Given the description of an element on the screen output the (x, y) to click on. 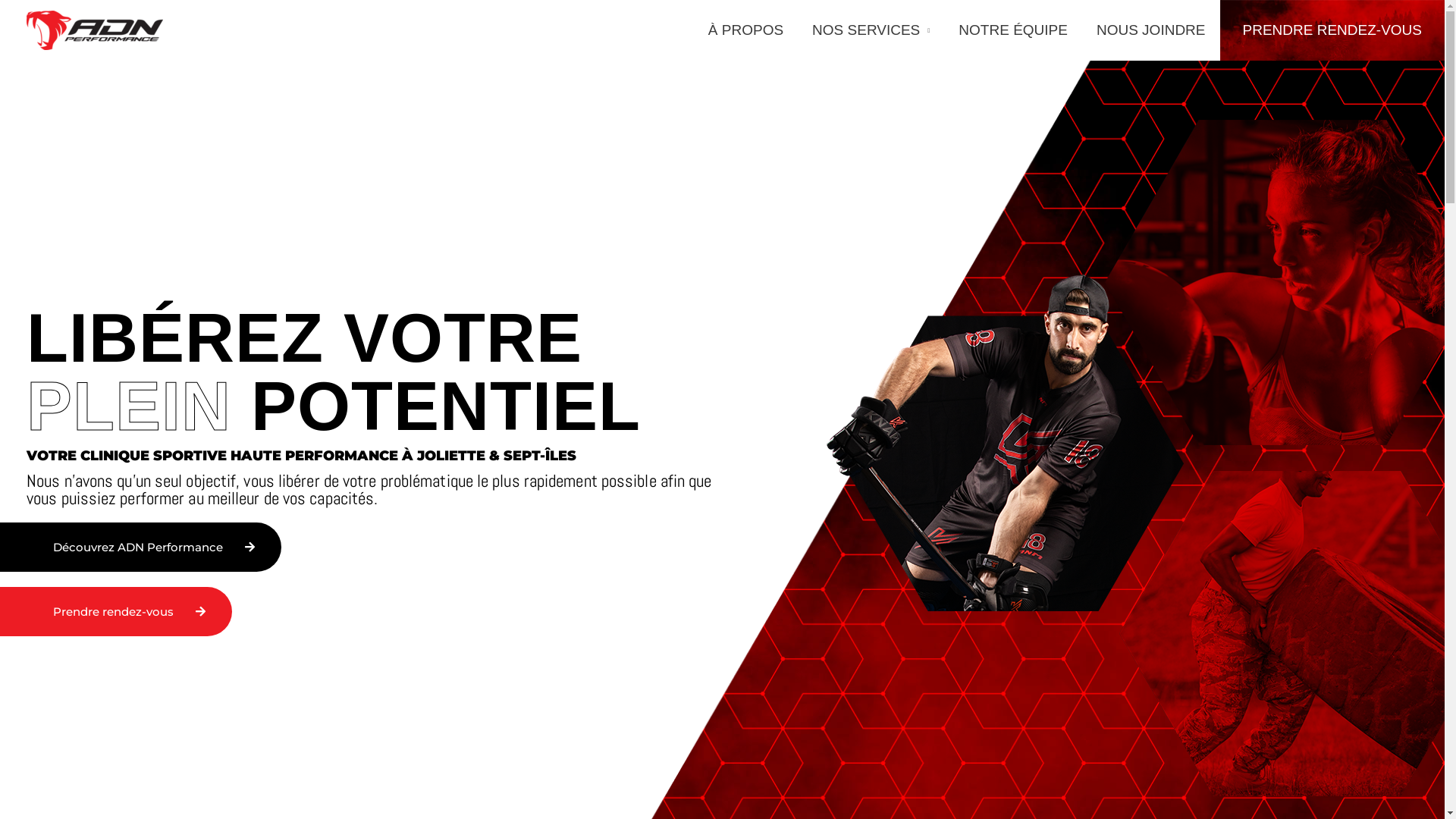
PRENDRE RENDEZ-VOUS Element type: text (1332, 30)
NOS SERVICES Element type: text (870, 30)
NOUS JOINDRE Element type: text (1151, 30)
